Given the description of an element on the screen output the (x, y) to click on. 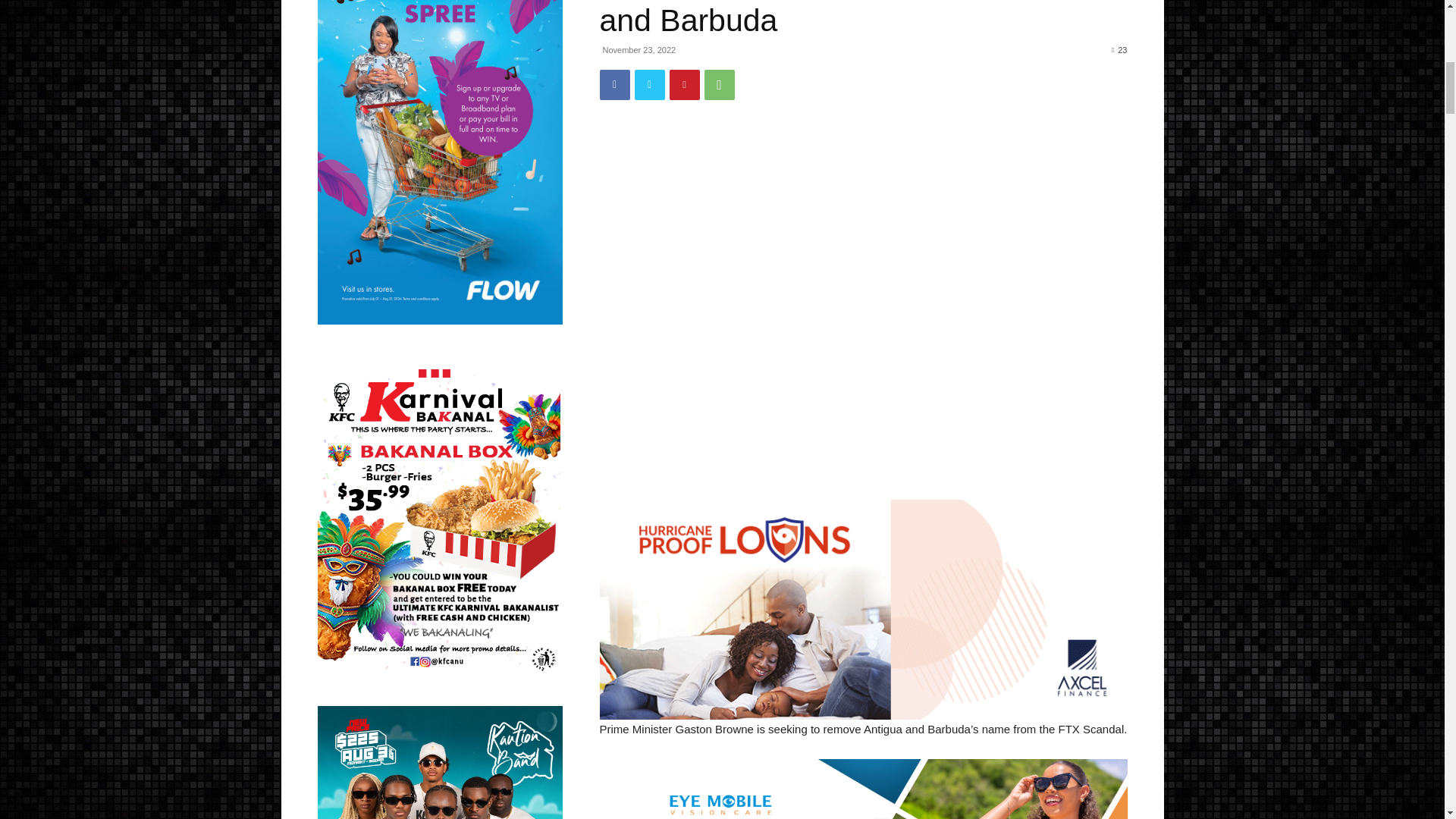
Twitter (648, 84)
Facebook (613, 84)
Pinterest (683, 84)
WhatsApp (718, 84)
